Given the description of an element on the screen output the (x, y) to click on. 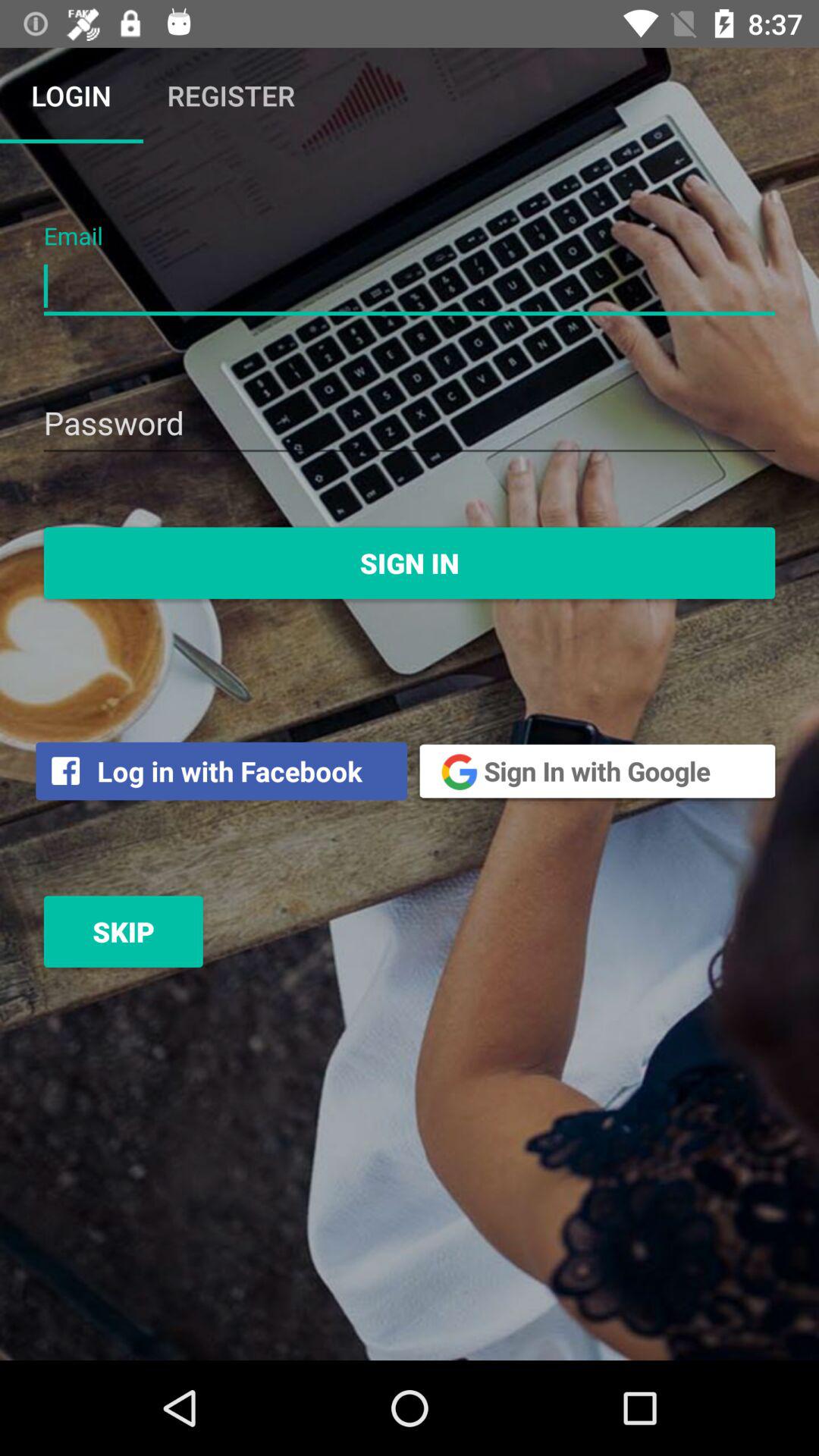
type the password (409, 424)
